Given the description of an element on the screen output the (x, y) to click on. 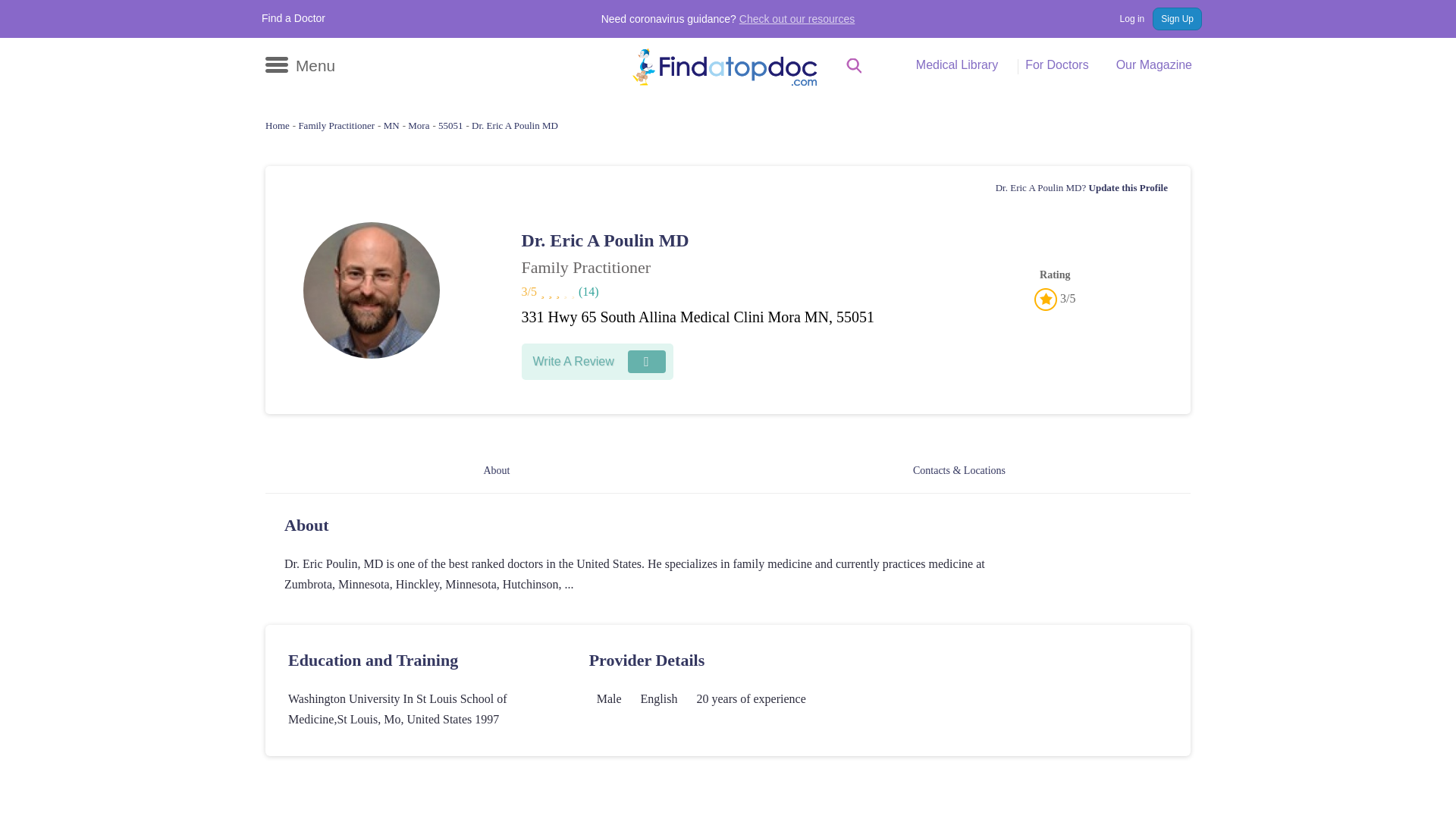
Check out our resources (797, 19)
Log in (1124, 18)
Sign Up (1177, 18)
Find a Doctor (293, 17)
Menu (299, 65)
Sign Up (1177, 18)
Log in (1124, 18)
